Given the description of an element on the screen output the (x, y) to click on. 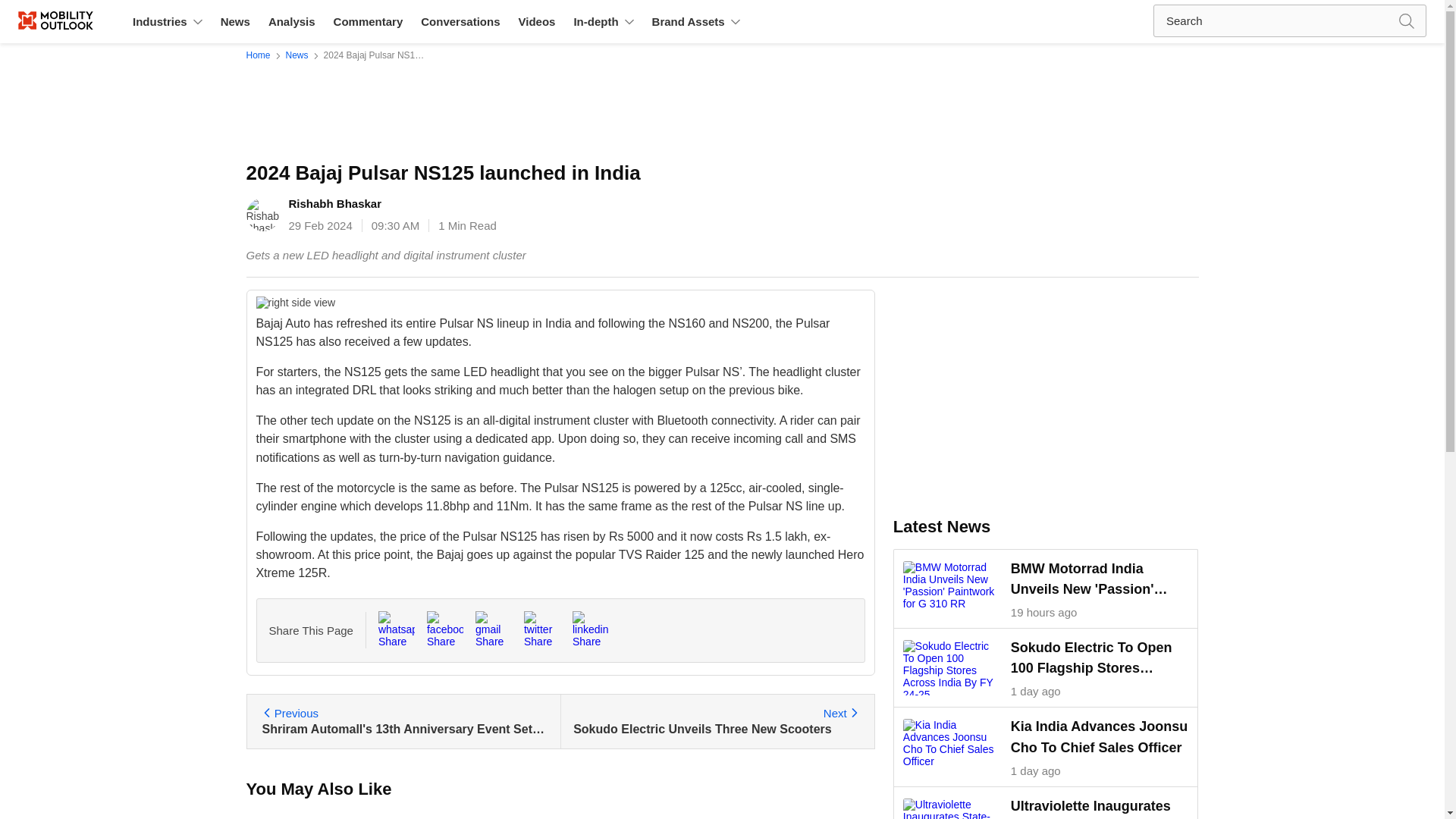
News (715, 721)
Mobility OutLook (235, 20)
Rishabh Bhaskar (70, 21)
Home (334, 203)
News (261, 54)
right side view (296, 54)
Analysis (296, 302)
whatsapp Share Link (291, 20)
News (396, 628)
linkedin Share Link (235, 20)
Home (590, 628)
facebook Share Link (261, 54)
Commentary (444, 628)
